Given the description of an element on the screen output the (x, y) to click on. 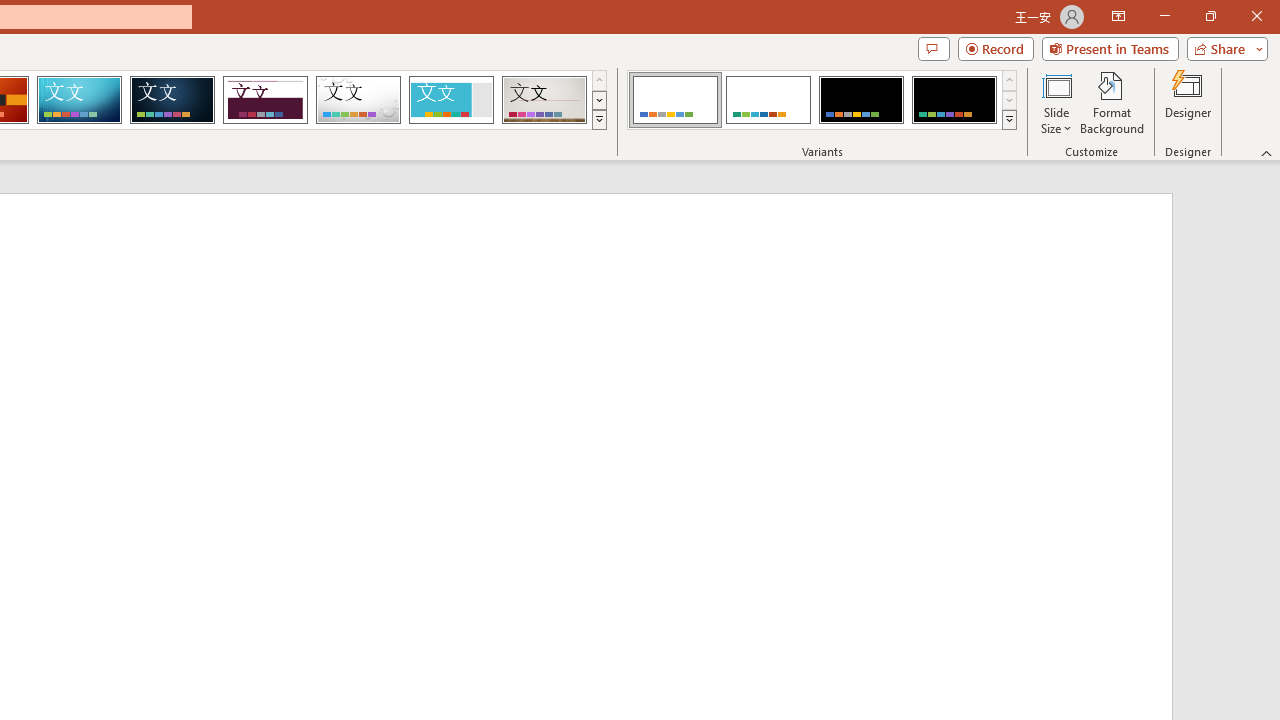
Office Theme Variant 3 (861, 100)
AutomationID: ThemeVariantsGallery (822, 99)
Damask Loading Preview... (171, 100)
Office Theme Variant 2 (768, 100)
Office Theme Variant 4 (953, 100)
Droplet Loading Preview... (358, 100)
Dividend Loading Preview... (265, 100)
Office Theme Variant 1 (674, 100)
